Given the description of an element on the screen output the (x, y) to click on. 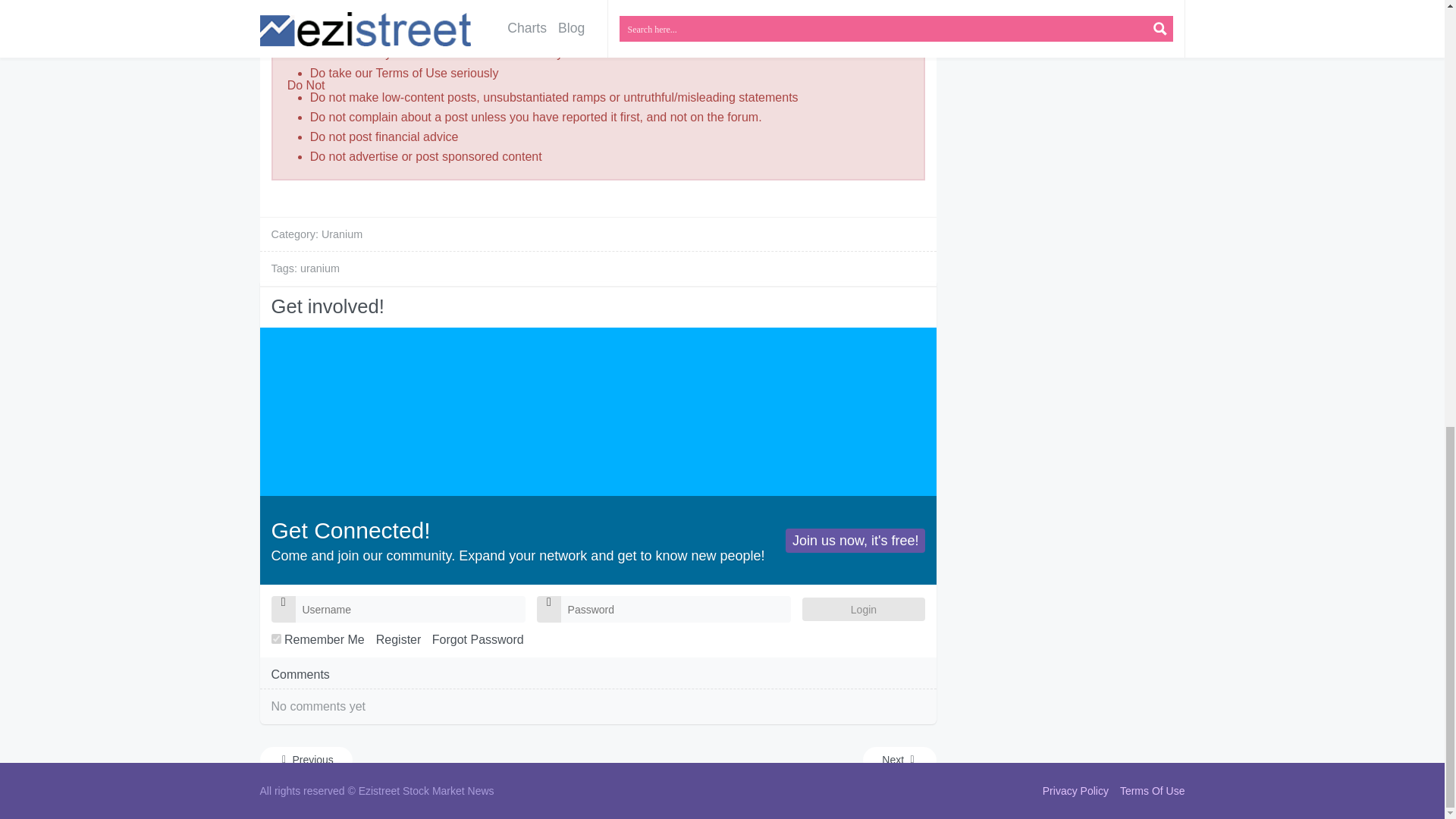
Register (398, 639)
yes (275, 638)
Terms of Use (410, 72)
Login (863, 608)
Uranium (341, 234)
Join us now, it's free! (855, 540)
uranium (319, 268)
Forgot Password (478, 639)
